Given the description of an element on the screen output the (x, y) to click on. 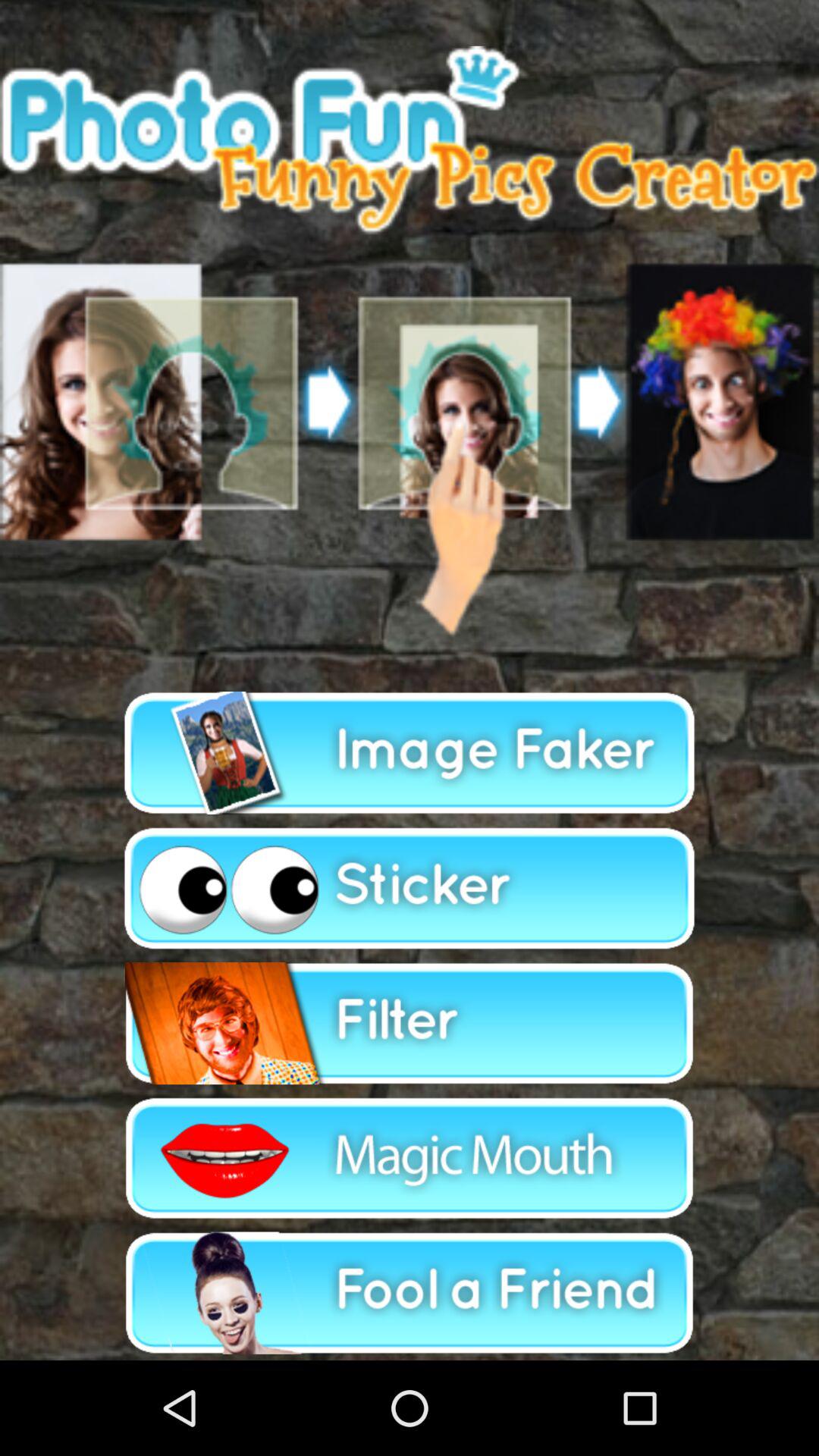
open fool a friend (409, 1292)
